Given the description of an element on the screen output the (x, y) to click on. 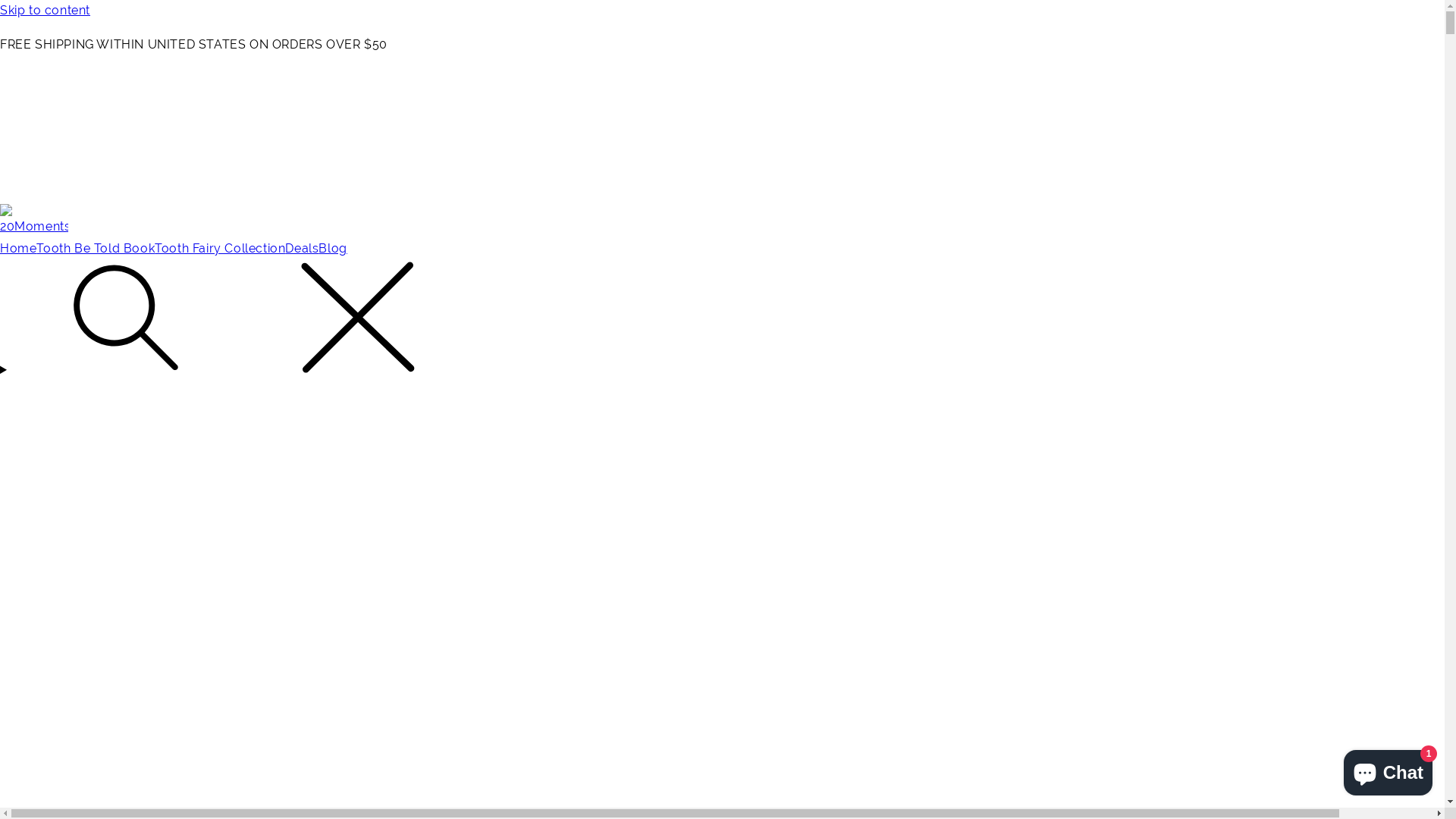
Home Element type: text (18, 249)
Tooth Fairy Collection Element type: text (219, 249)
Deals Element type: text (301, 249)
Tooth Be Told Book Element type: text (95, 249)
Skip to content Element type: text (722, 10)
Blog Element type: text (332, 249)
Shopify online store chat Element type: hover (1388, 769)
